Given the description of an element on the screen output the (x, y) to click on. 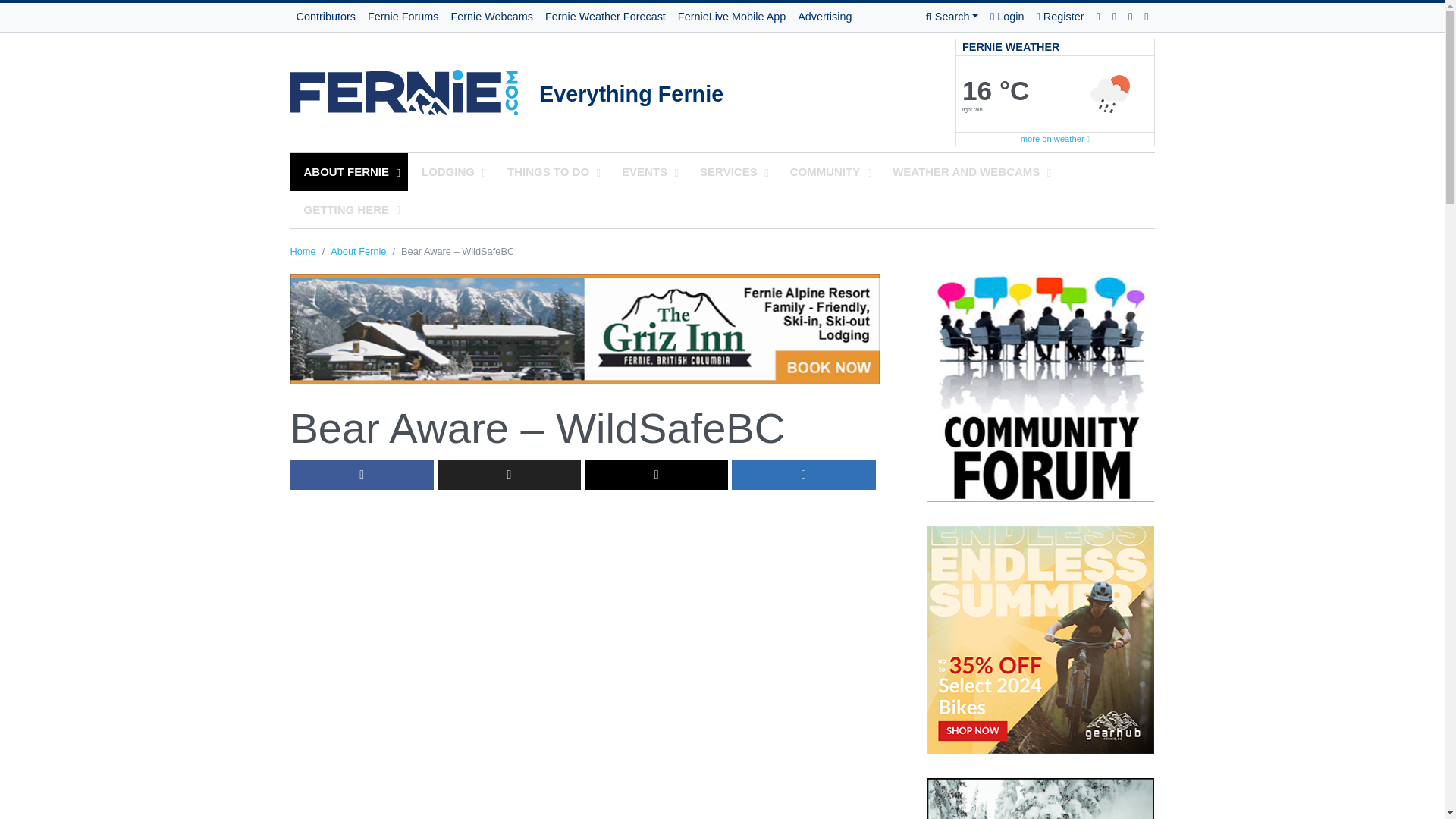
Fernie Weather Forecast (604, 17)
Fernie Forums (403, 17)
Advertising (824, 17)
THINGS TO DO (550, 171)
Contributors (325, 17)
Fernie Webcams (491, 17)
Go to Fernie.com. (302, 251)
Search (952, 17)
Fernie Community (413, 89)
Contributors (325, 17)
FernieLive Mobile App (731, 17)
more on weather (1054, 138)
Login (1006, 17)
Advertising (824, 17)
Fernie Weather Forecast (604, 17)
